Given the description of an element on the screen output the (x, y) to click on. 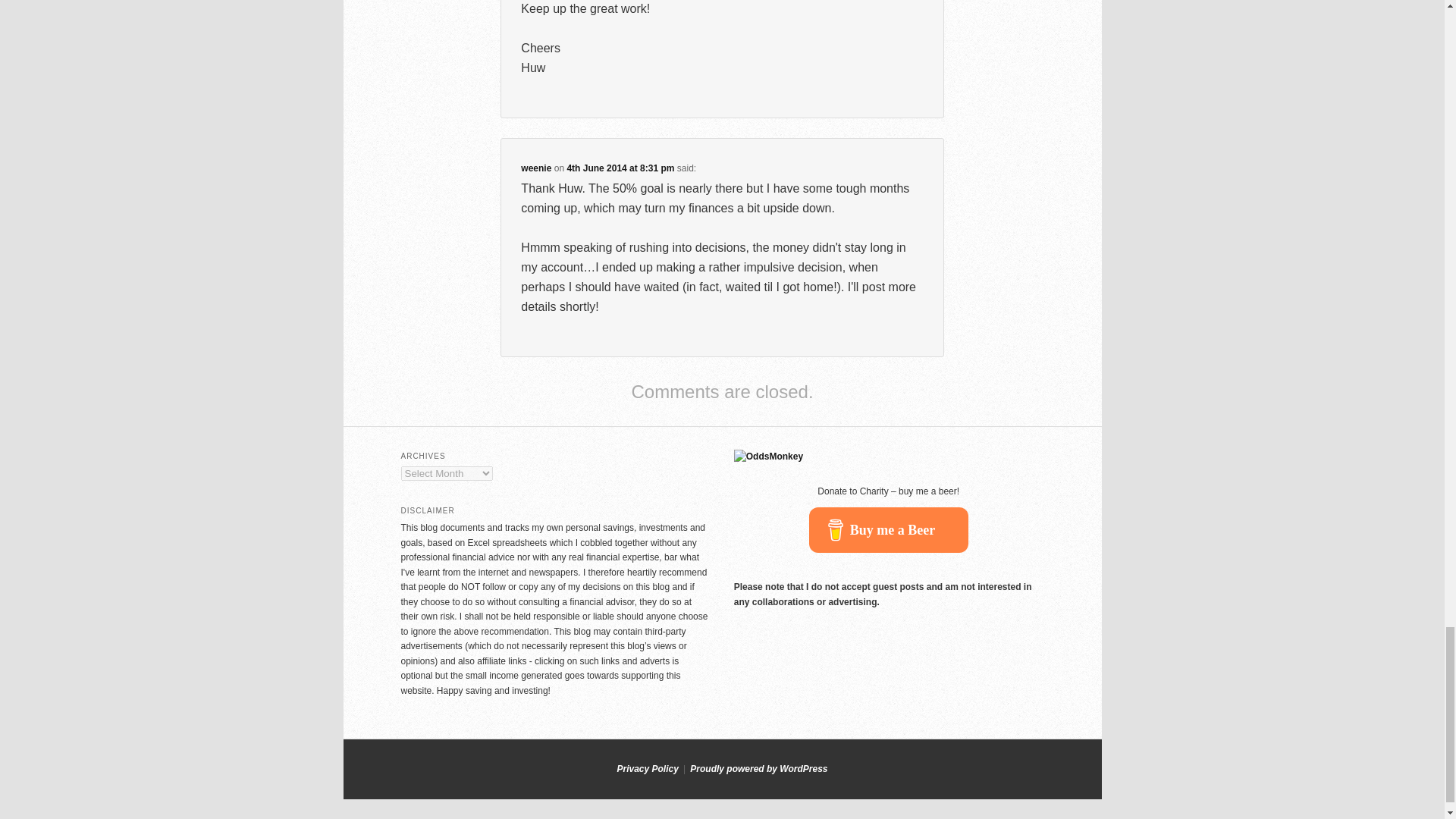
Semantic Personal Publishing Platform (758, 768)
